Given the description of an element on the screen output the (x, y) to click on. 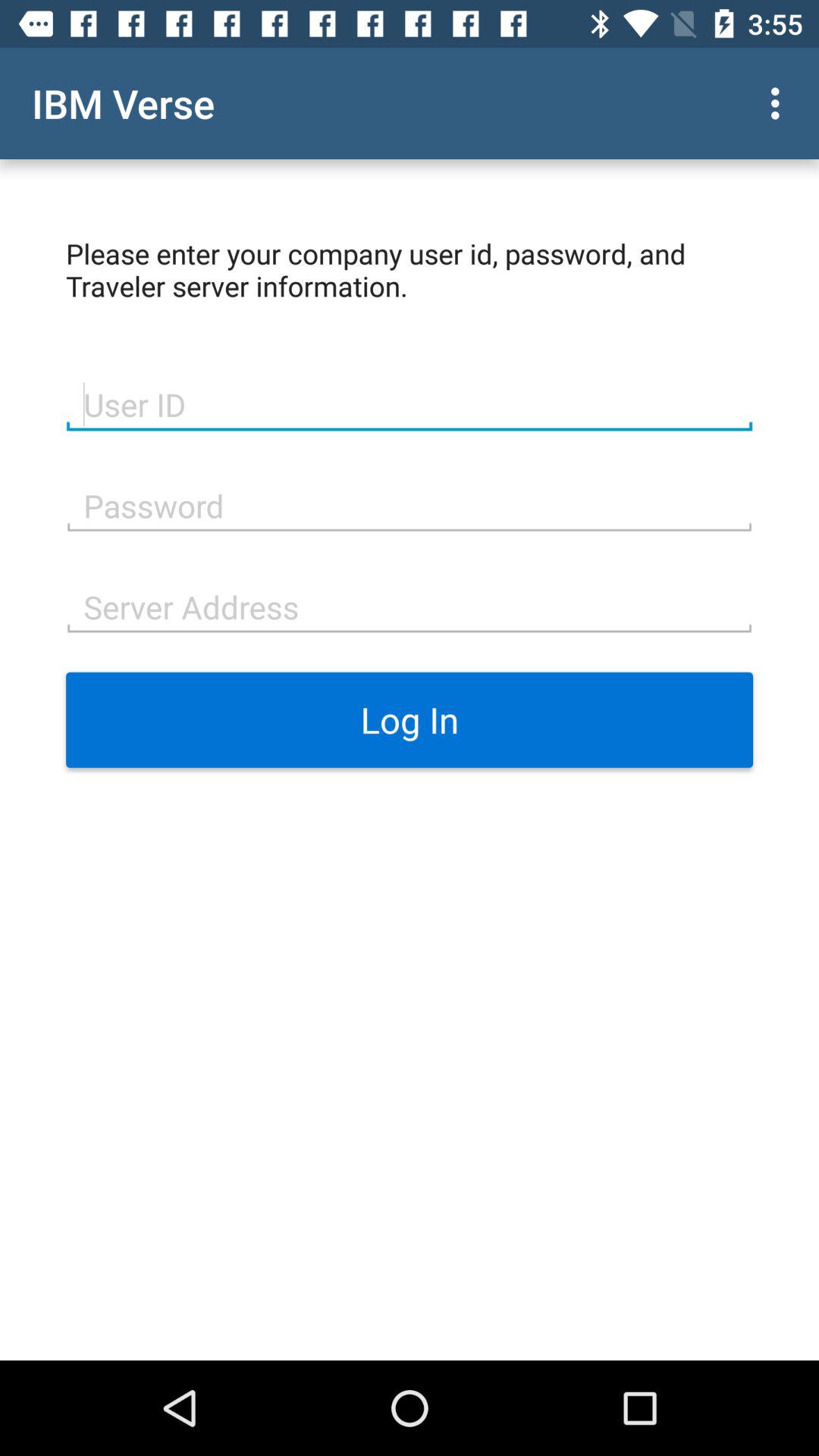
turn off the item next to ibm verse icon (779, 103)
